Given the description of an element on the screen output the (x, y) to click on. 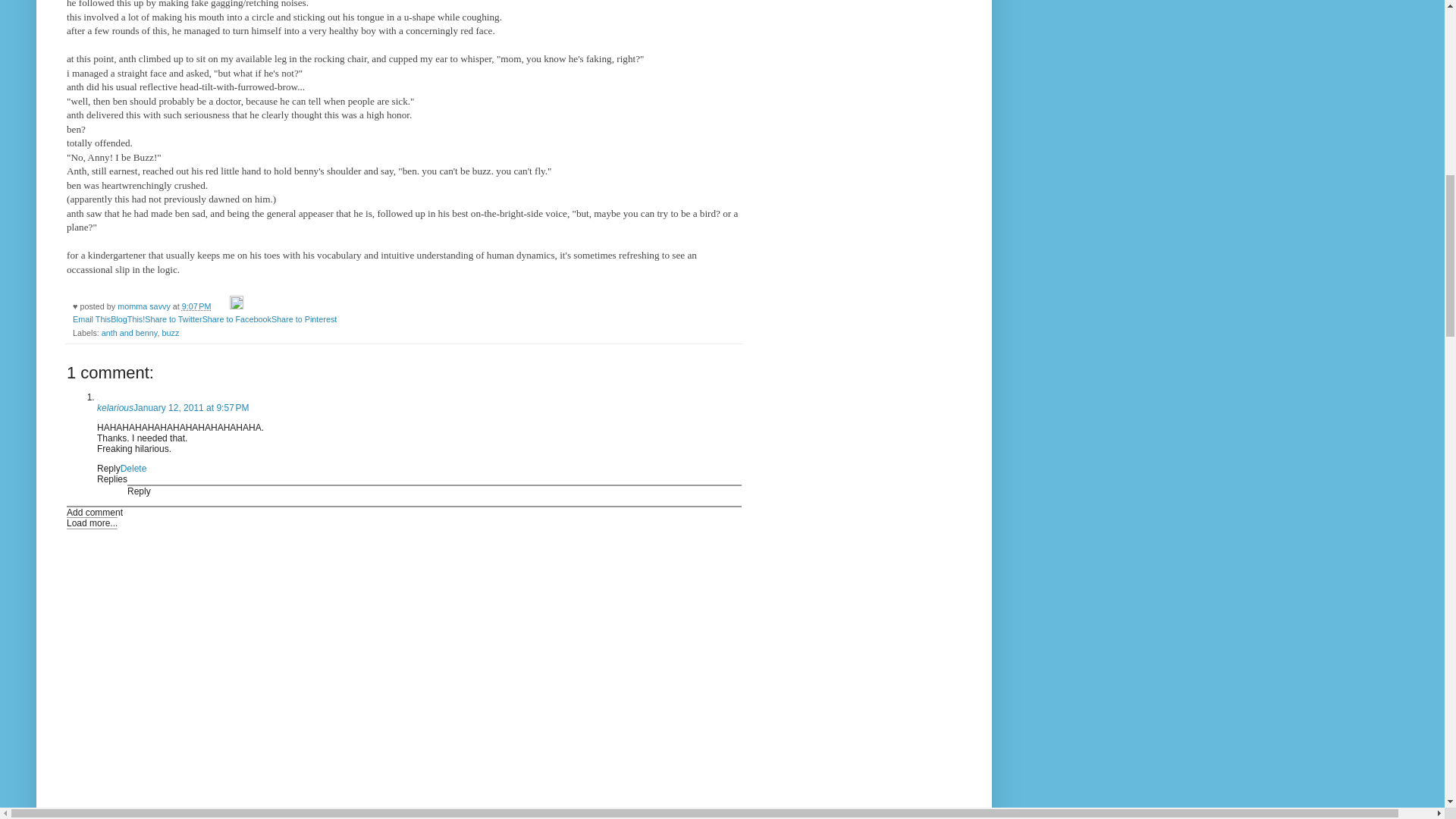
Email This (91, 318)
Add comment (94, 511)
kelarious (115, 407)
Delete (133, 468)
Share to Pinterest (303, 318)
Reply (108, 468)
Email Post (222, 306)
author profile (145, 306)
BlogThis! (127, 318)
momma savvy (145, 306)
buzz (170, 332)
Share to Facebook (236, 318)
Share to Twitter (173, 318)
Share to Facebook (236, 318)
